Given the description of an element on the screen output the (x, y) to click on. 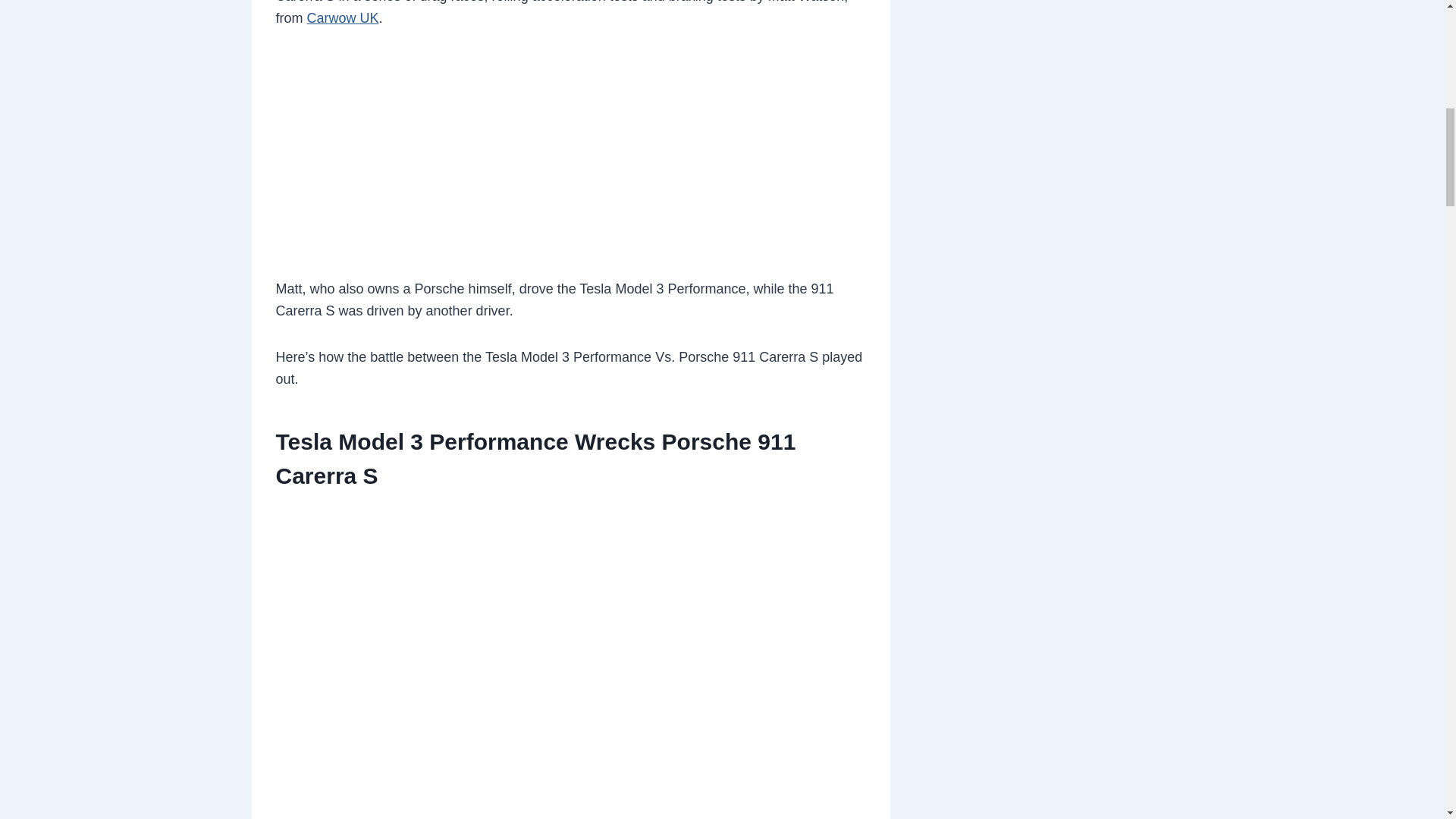
Carwow UK (342, 17)
